Given the description of an element on the screen output the (x, y) to click on. 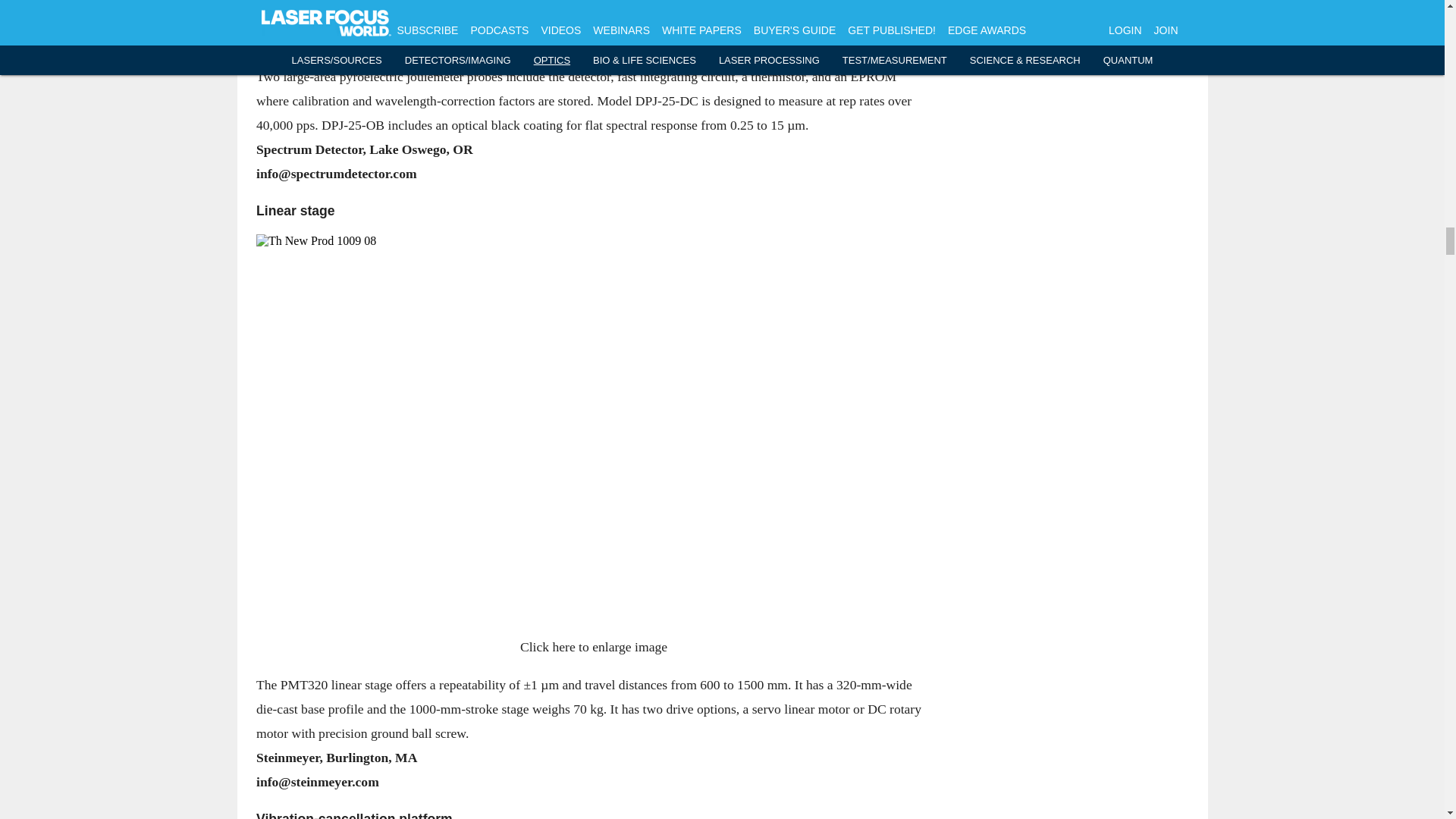
Th New Prod 1009 07 (593, 7)
